Given the description of an element on the screen output the (x, y) to click on. 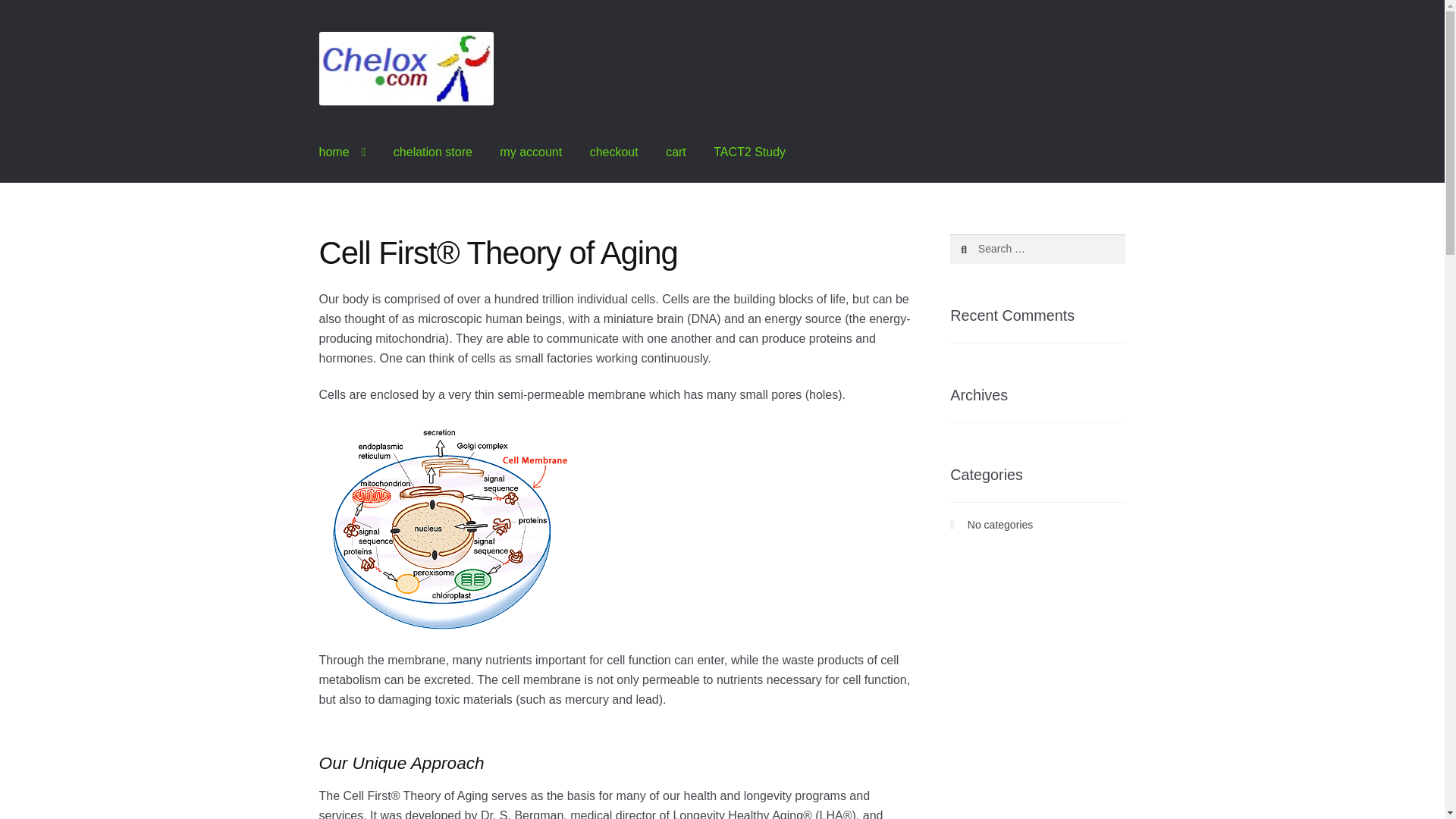
checkout (614, 151)
chelation store (432, 151)
home (342, 151)
my account (530, 151)
TACT2 Study (749, 151)
